Given the description of an element on the screen output the (x, y) to click on. 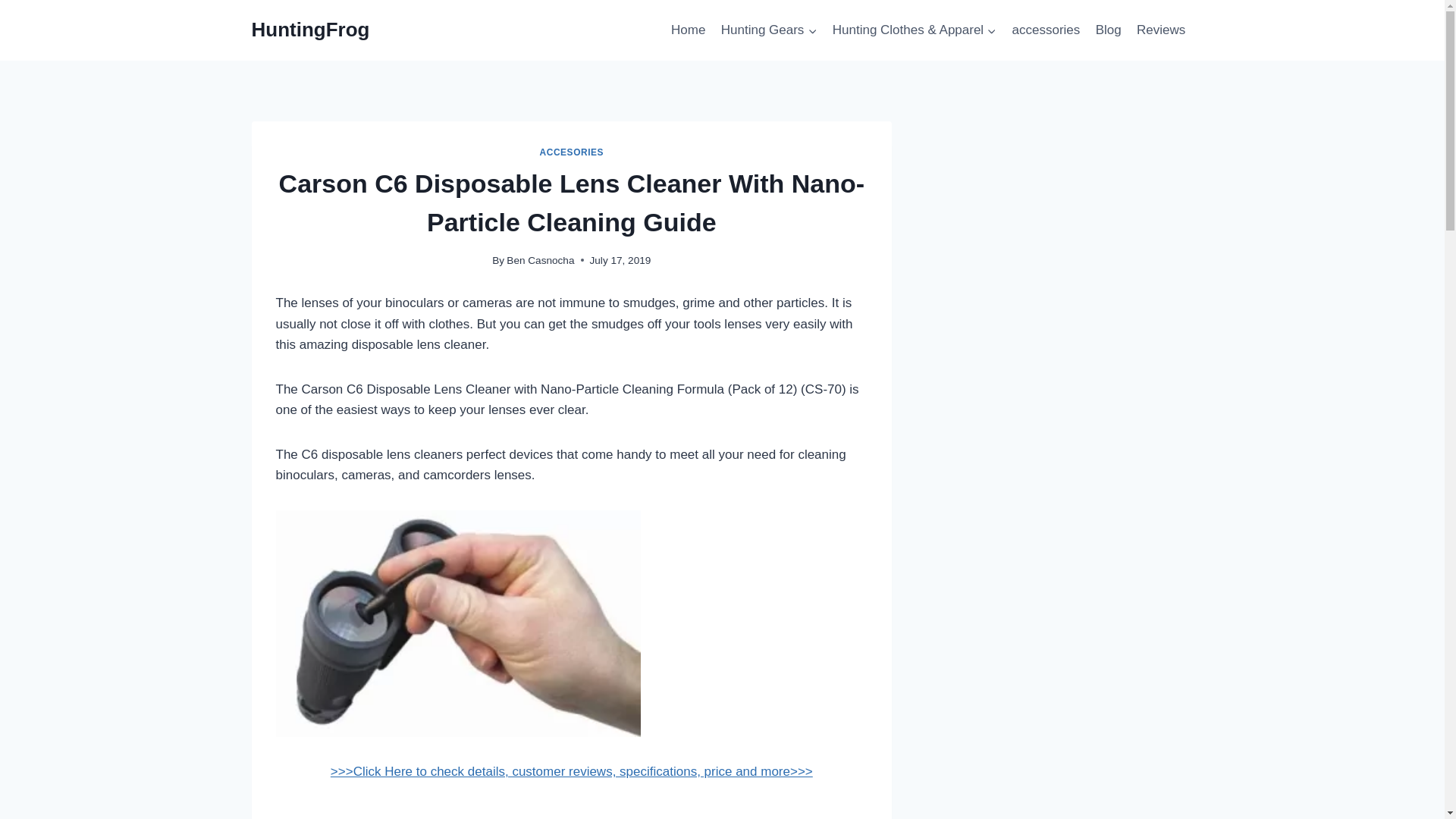
Home (688, 30)
accessories (1045, 30)
Ben Casnocha (539, 260)
HuntingFrog (310, 29)
Hunting Gears (769, 30)
Blog (1107, 30)
Reviews (1161, 30)
ACCESORIES (572, 152)
